Given the description of an element on the screen output the (x, y) to click on. 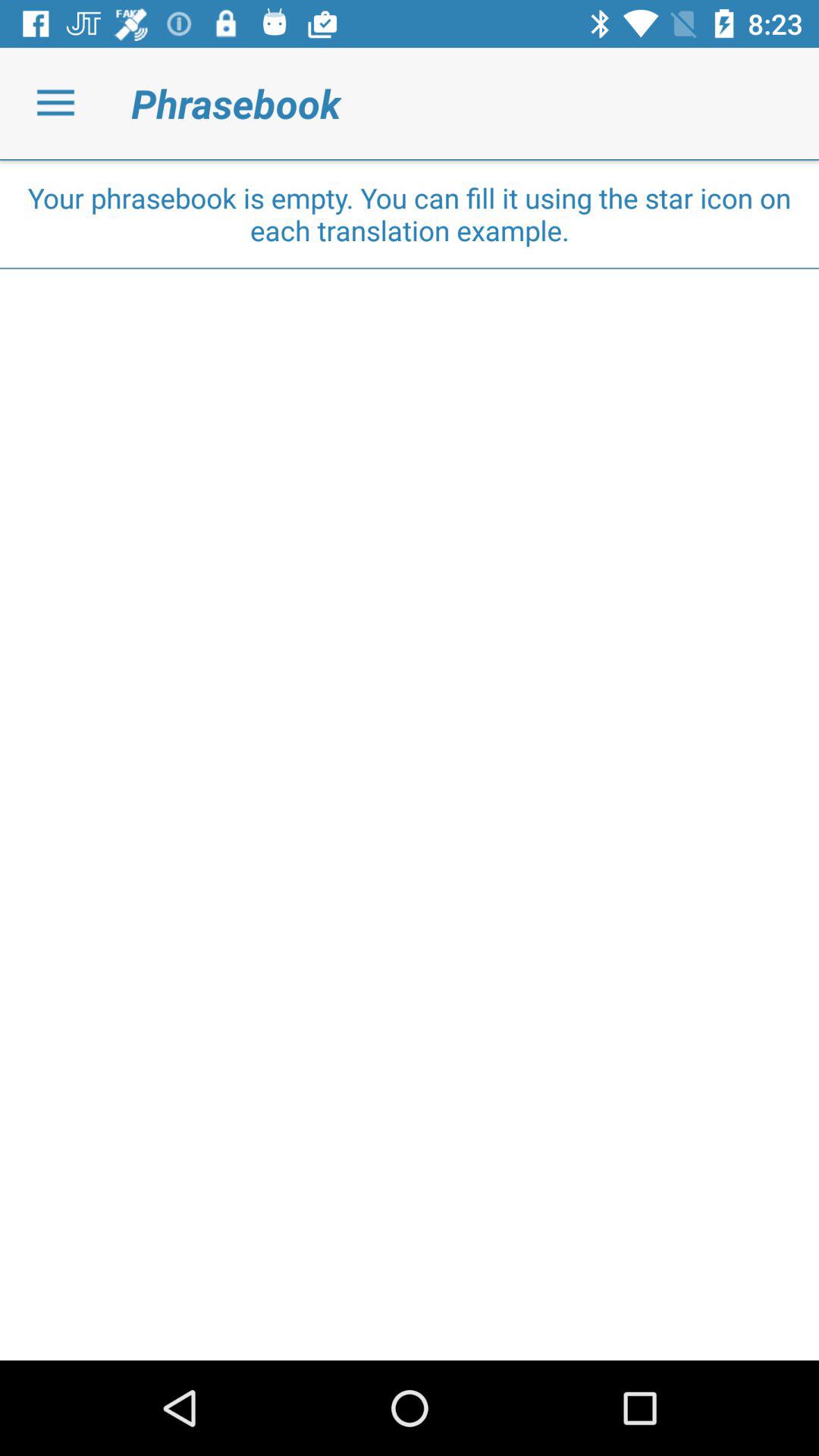
jump to your phrasebook is item (409, 214)
